Given the description of an element on the screen output the (x, y) to click on. 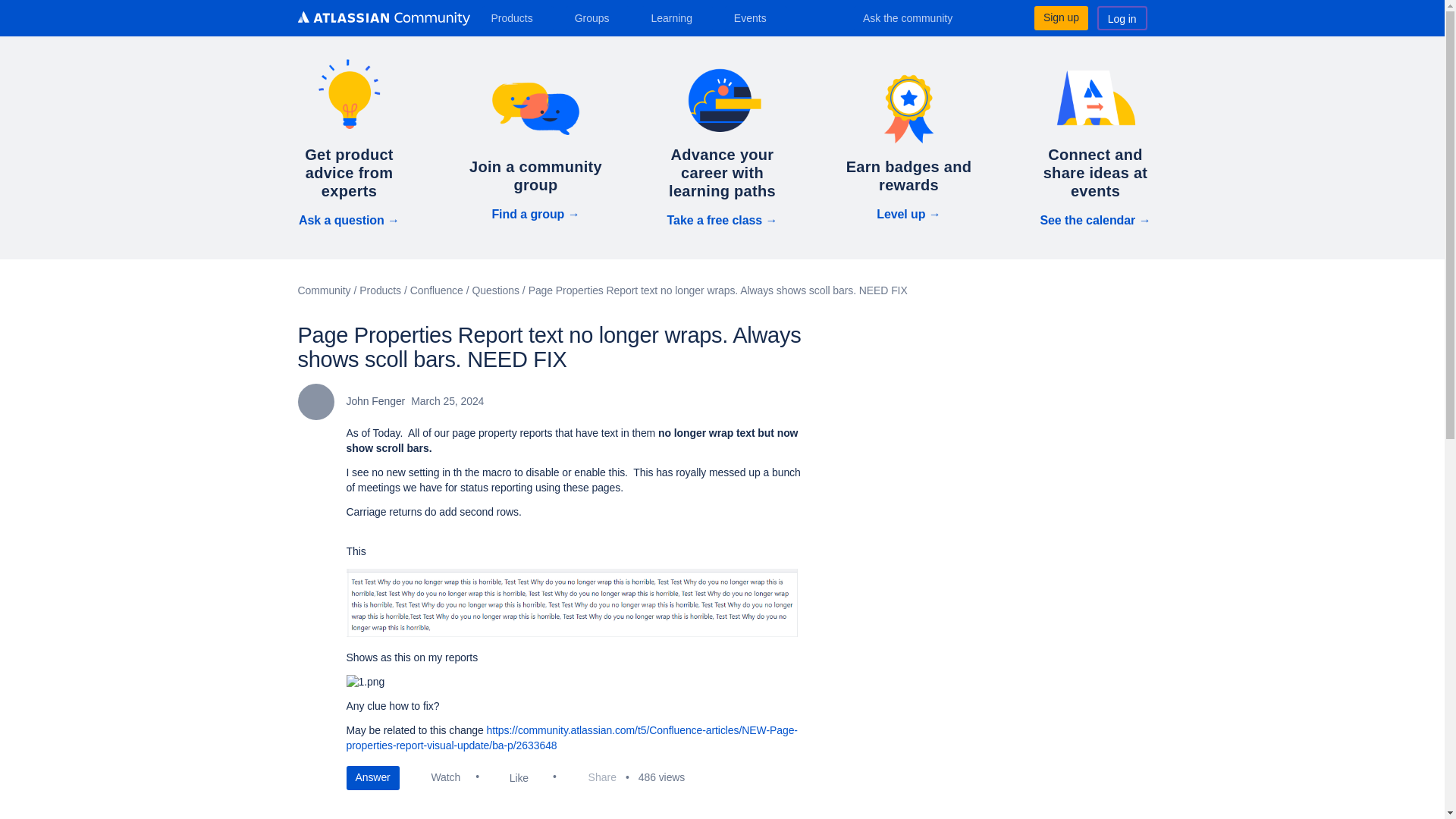
Log in (1122, 17)
Ask the community  (917, 17)
2.png (573, 602)
Events (756, 17)
Atlassian Community logo (382, 19)
John Fenger (315, 402)
Sign up (1060, 17)
Learning (676, 17)
Groups (598, 17)
Products (517, 17)
1.png (365, 682)
Atlassian Community logo (382, 18)
